Given the description of an element on the screen output the (x, y) to click on. 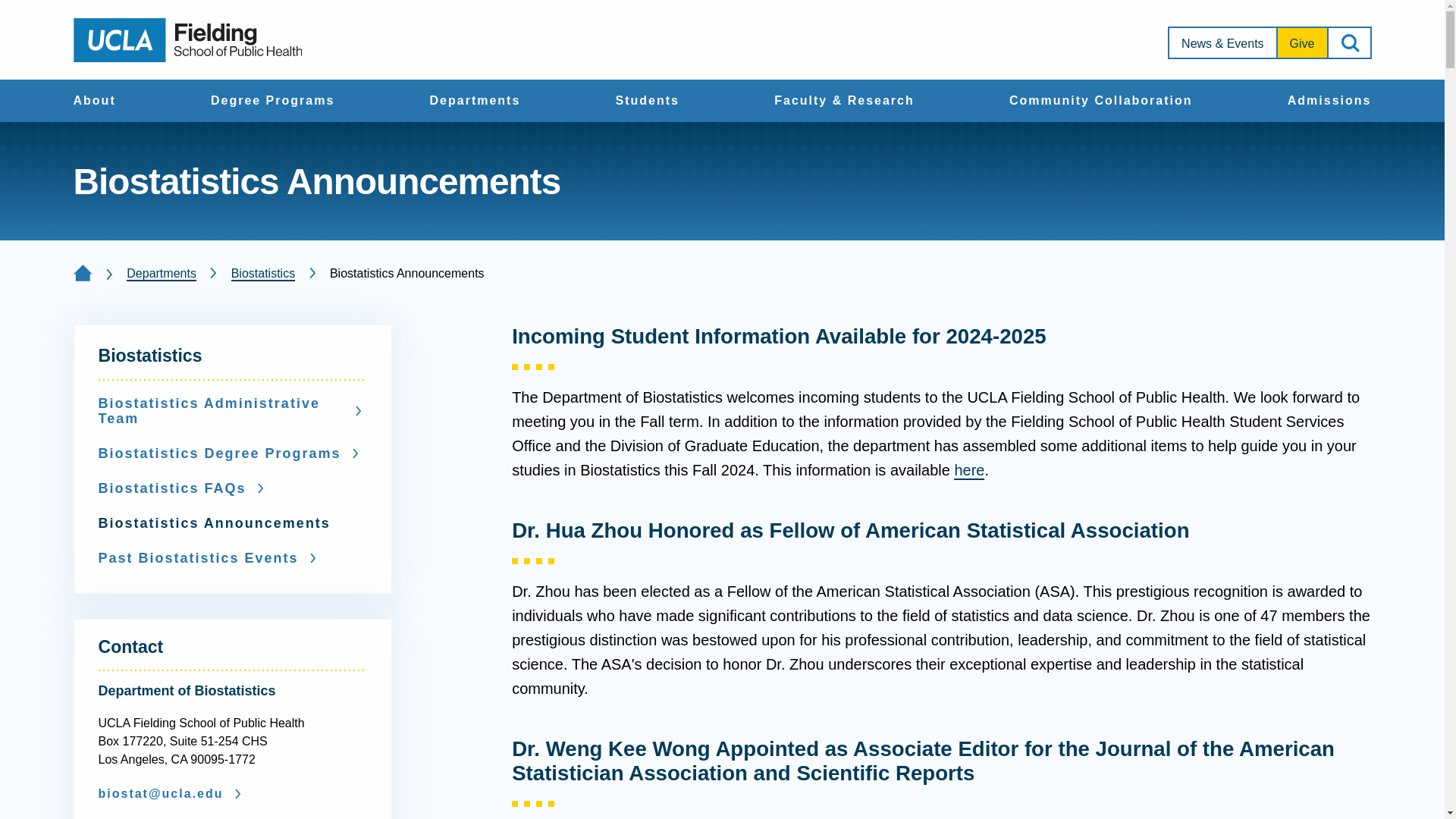
Return to home (186, 40)
Degree Programs (272, 102)
Departments (475, 102)
Students (647, 102)
About (93, 102)
Home Page (81, 273)
